Given the description of an element on the screen output the (x, y) to click on. 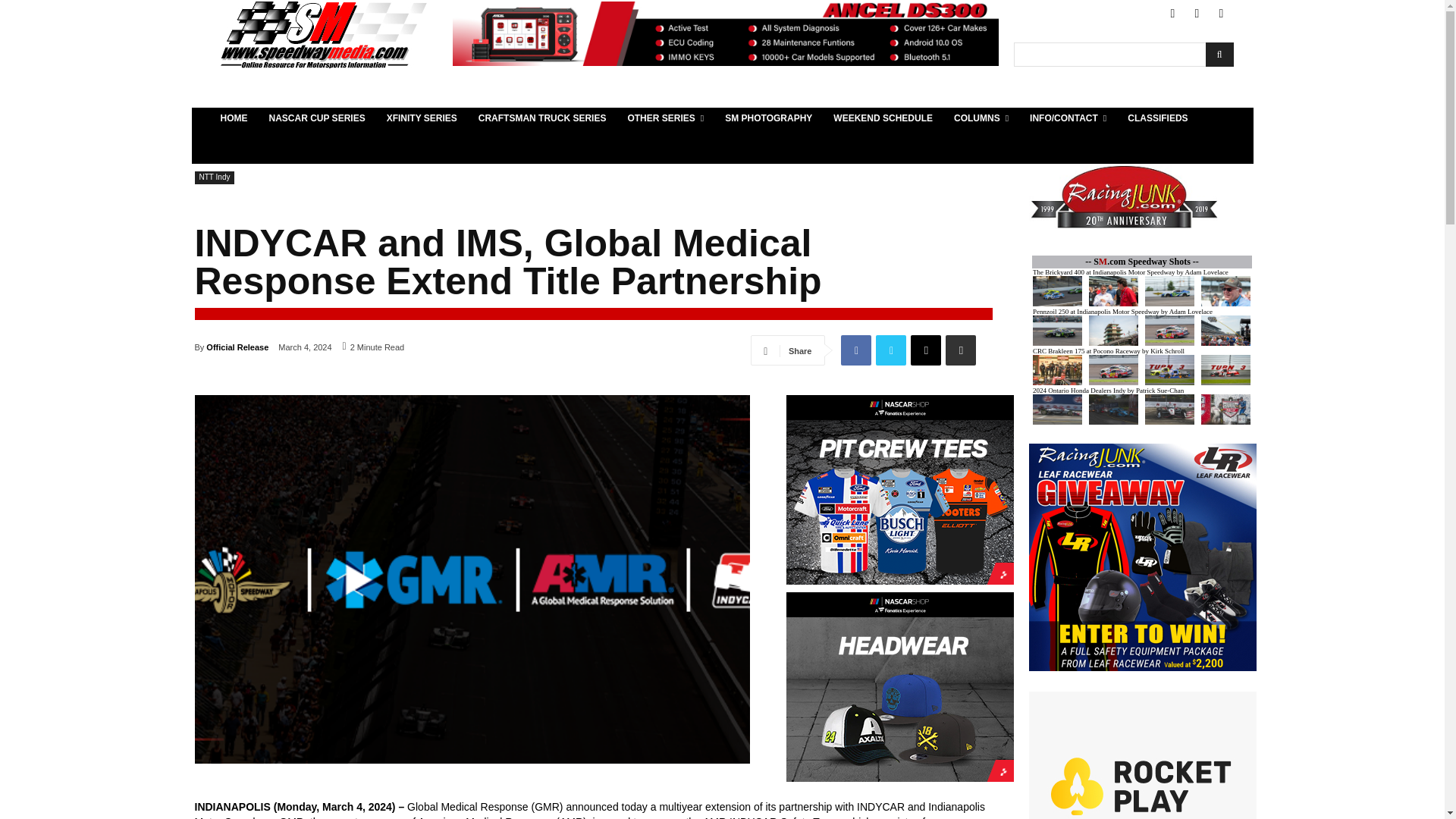
Instagram (1220, 13)
OTHER SERIES (664, 118)
XFINITY SERIES (421, 117)
HOME (233, 117)
Email (925, 349)
Facebook (1172, 13)
Facebook (855, 349)
CRAFTSMAN TRUCK SERIES (542, 117)
Print (959, 349)
Twitter (1196, 13)
Twitter (890, 349)
NASCAR CUP SERIES (316, 117)
